Given the description of an element on the screen output the (x, y) to click on. 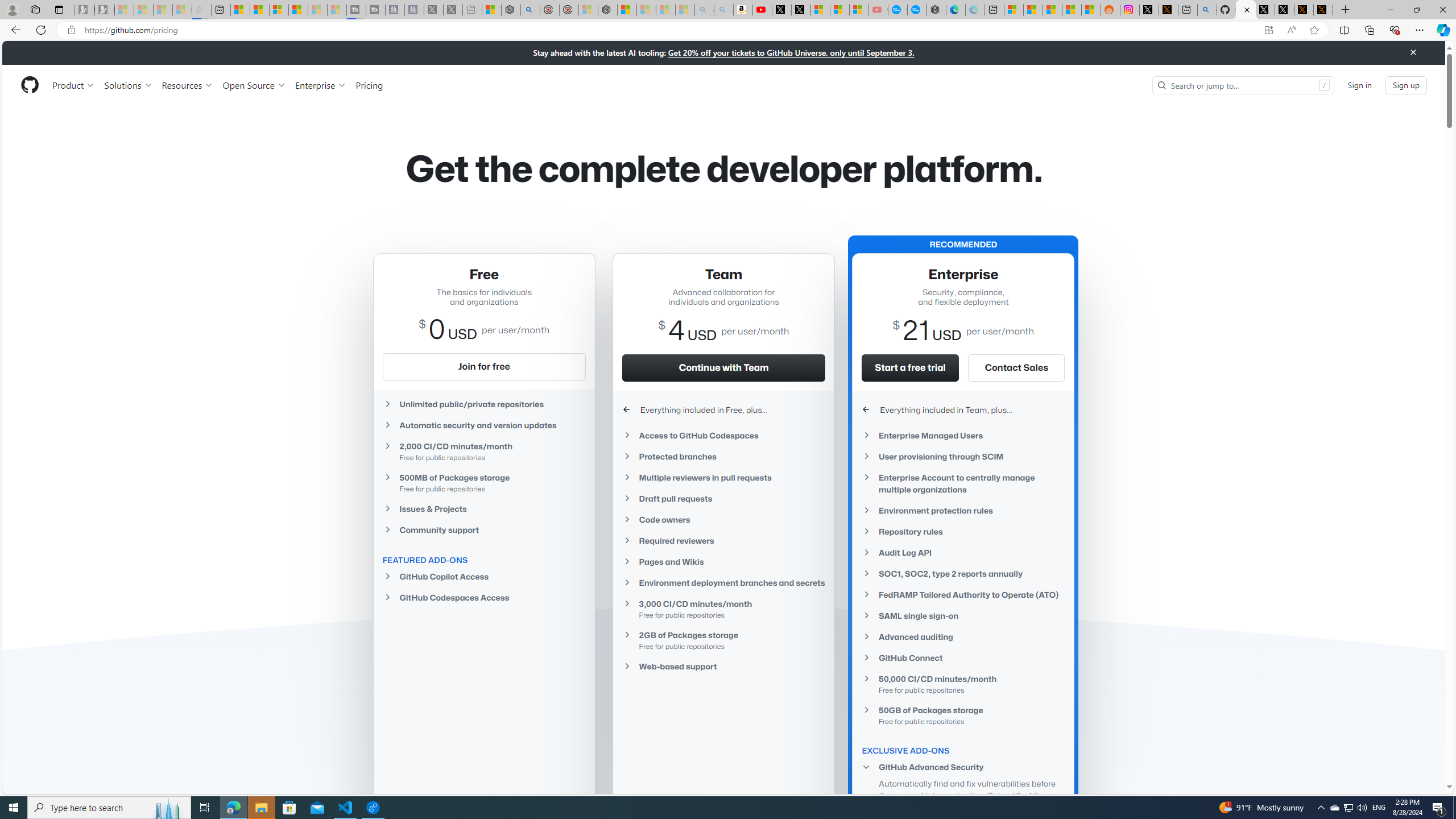
Enterprise (319, 84)
Shanghai, China weather forecast | Microsoft Weather (1033, 9)
50,000 CI/CD minutes/month Free for public repositories (963, 684)
Amazon Echo Dot PNG - Search Images - Sleeping (723, 9)
Draft pull requests (723, 498)
help.x.com | 524: A timeout occurred (1168, 9)
Newsletter Sign Up - Sleeping (104, 9)
Pricing (368, 84)
Gloom - YouTube - Sleeping (877, 9)
GitHub Advanced Security (963, 767)
GitHub Copilot Access (483, 576)
